Given the description of an element on the screen output the (x, y) to click on. 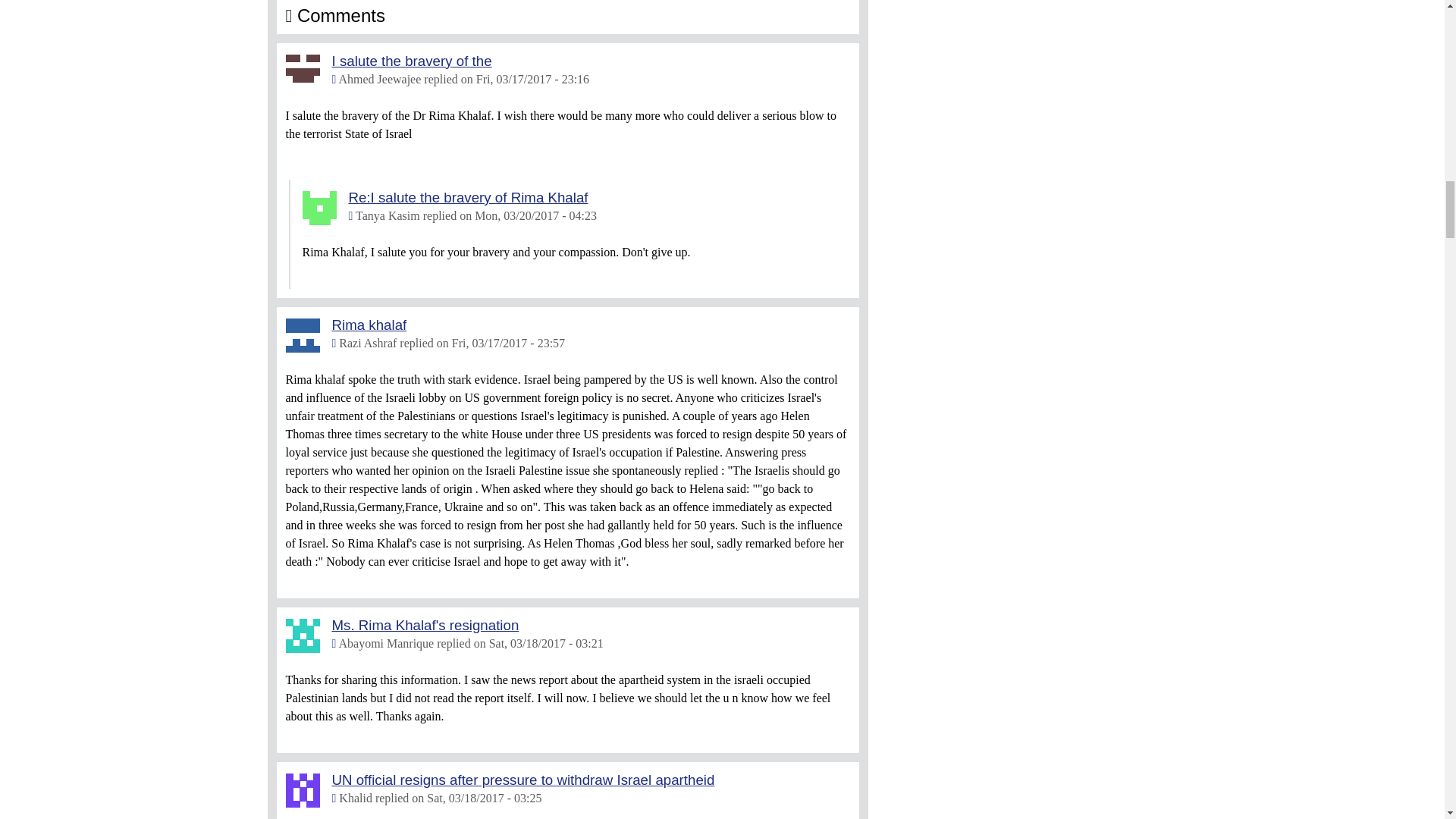
Rima khalaf (369, 324)
I salute the bravery of the (411, 60)
Re:I salute the bravery of Rima Khalaf (468, 197)
